Given the description of an element on the screen output the (x, y) to click on. 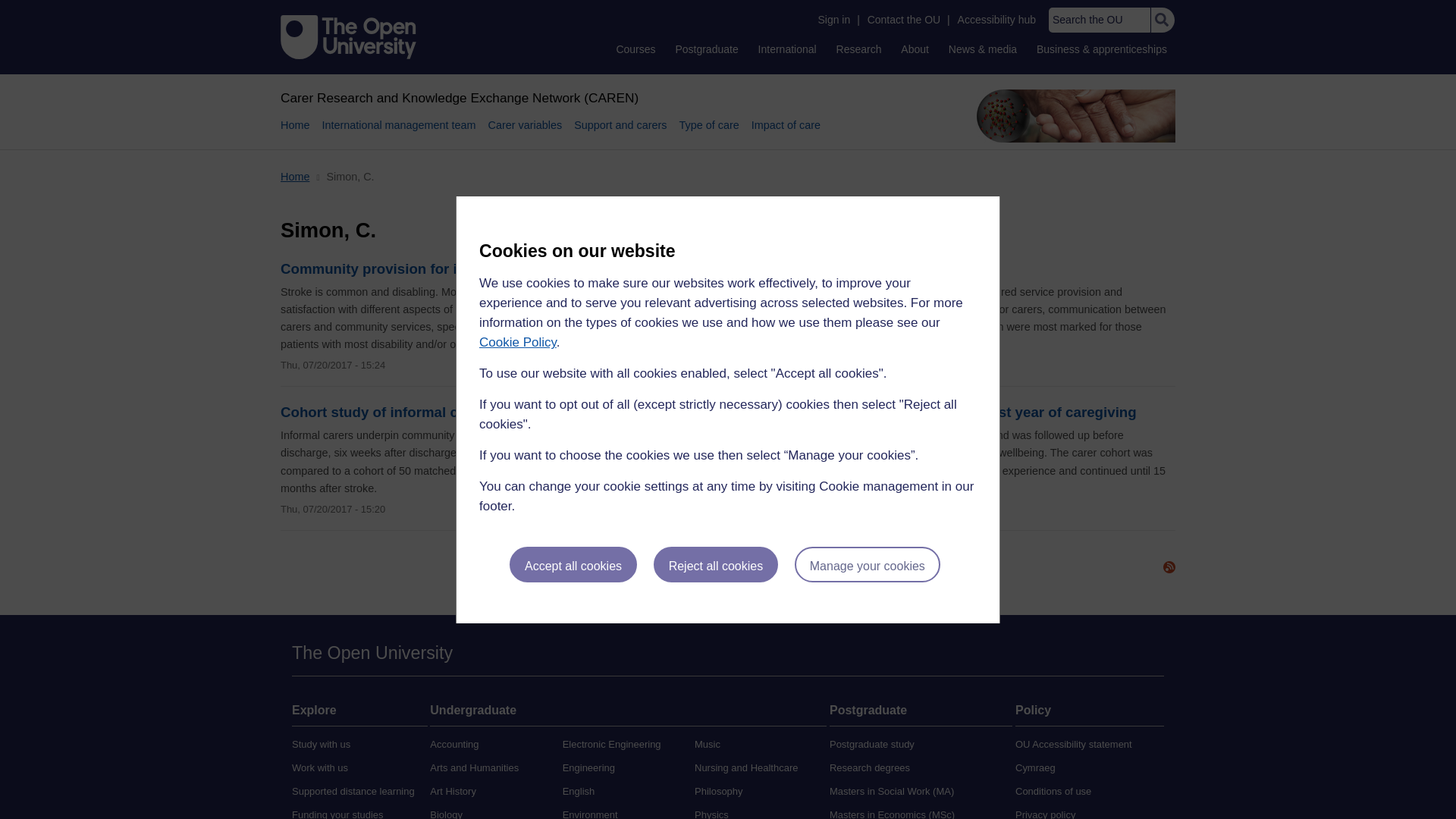
Research (858, 49)
Support and carers (619, 133)
Accept all cookies (573, 564)
Accessibility hub (997, 19)
Manage your cookies (867, 564)
Contact the OU (903, 19)
Search (1161, 19)
Postgraduate (705, 49)
Subscribe to RSS - Simon, C. (1168, 567)
